Given the description of an element on the screen output the (x, y) to click on. 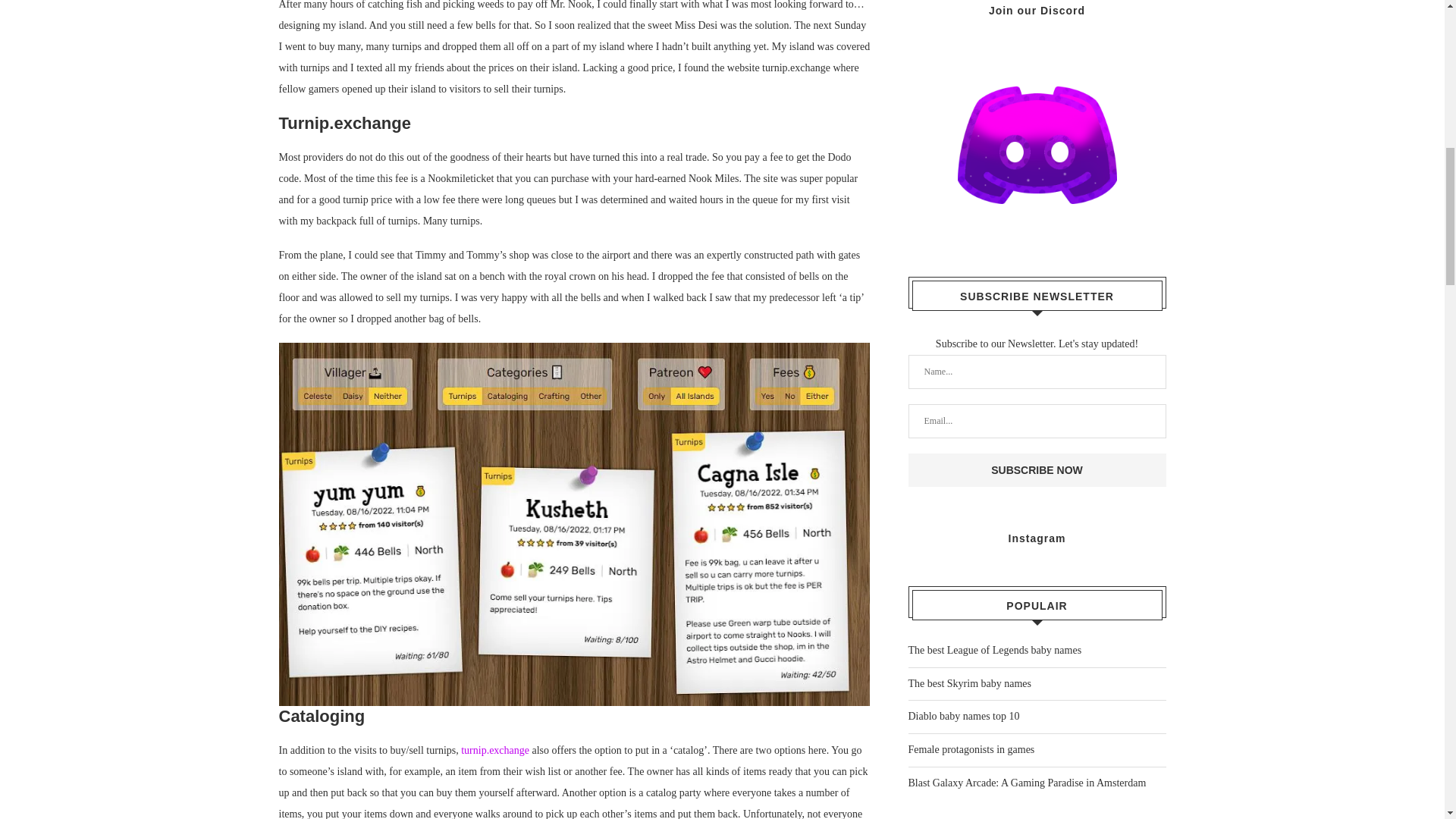
Subscribe now (1037, 469)
